Given the description of an element on the screen output the (x, y) to click on. 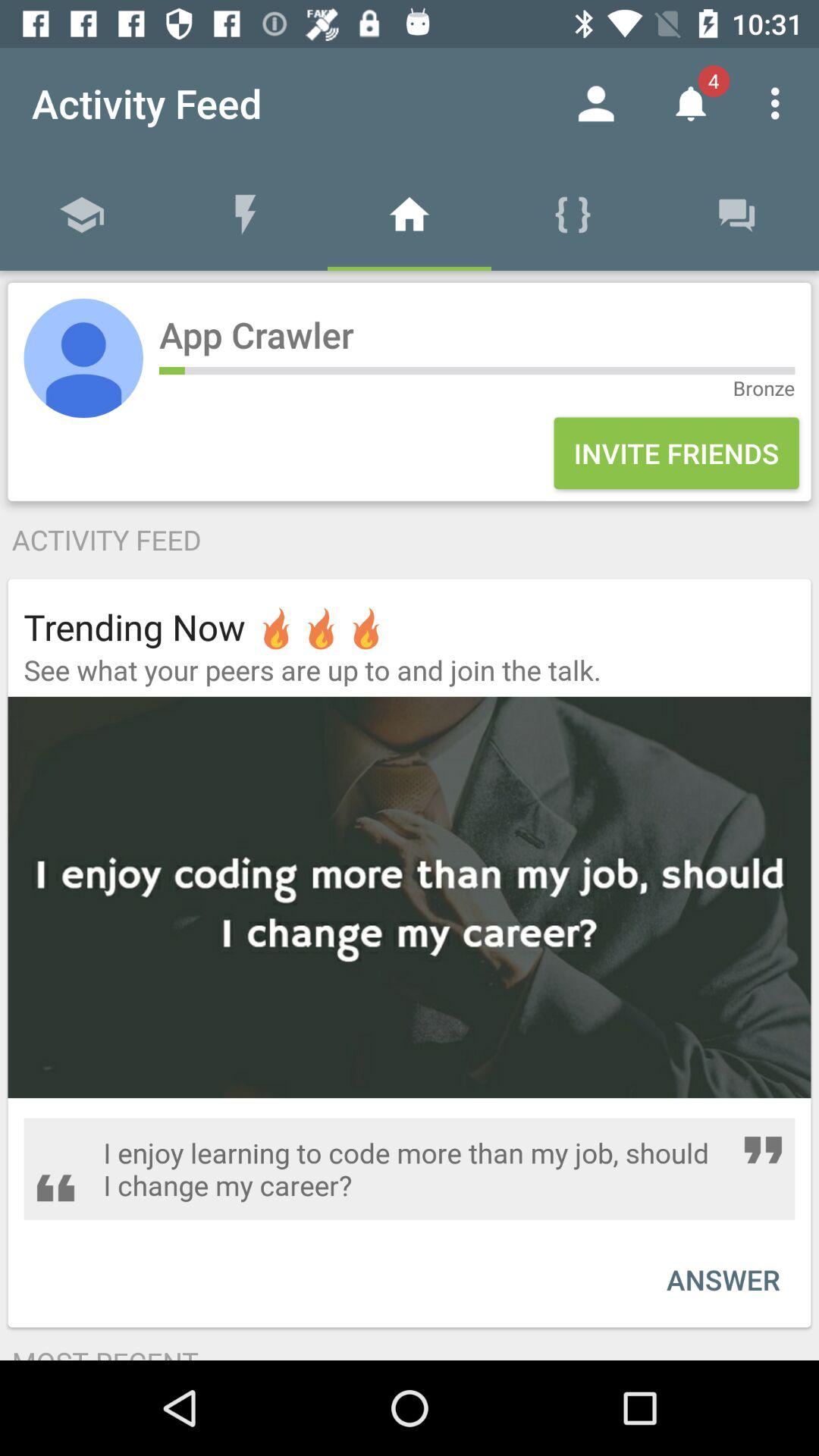
click on trending now (206, 626)
